Given the description of an element on the screen output the (x, y) to click on. 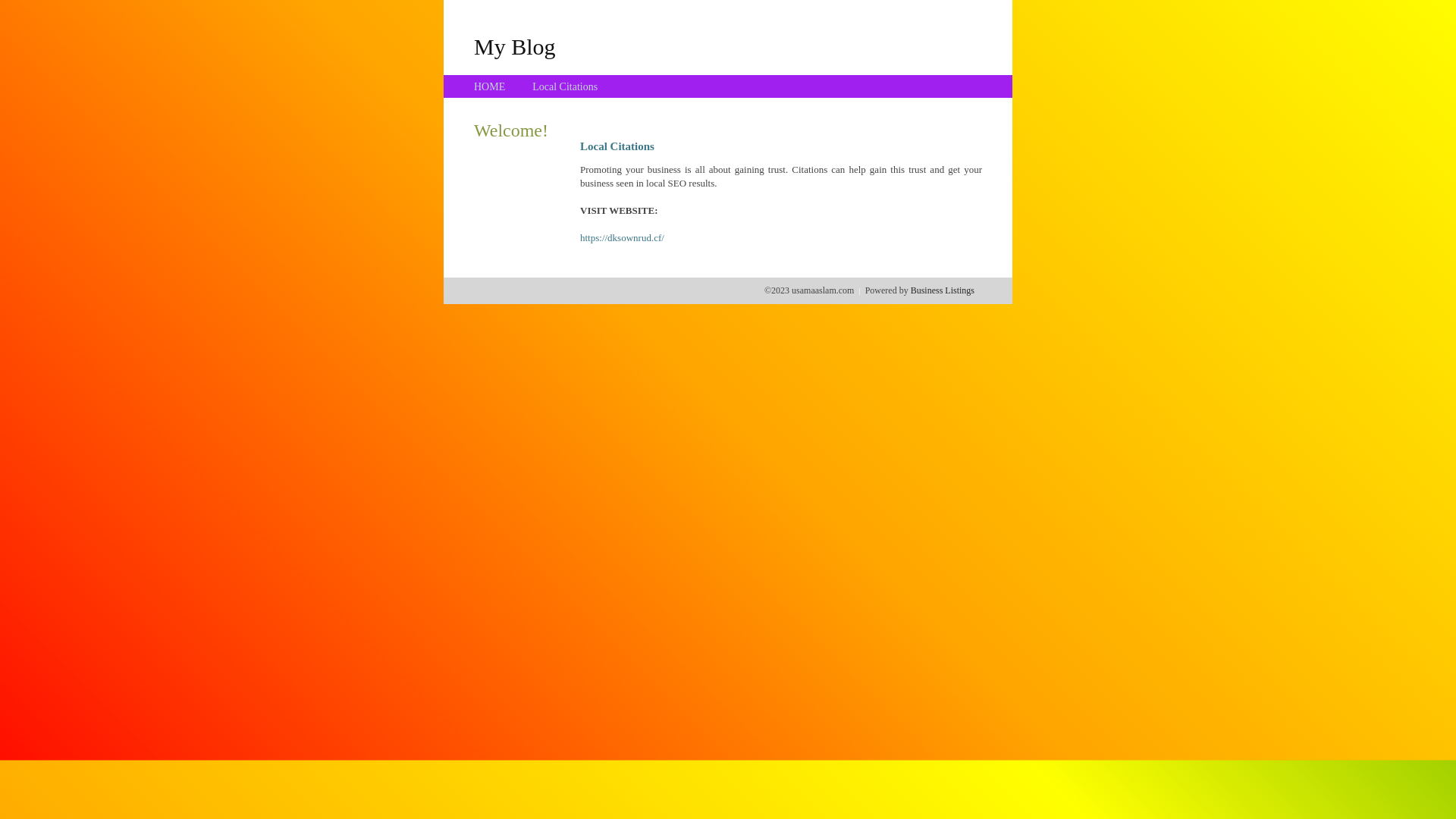
Local Citations Element type: text (564, 86)
Business Listings Element type: text (942, 290)
My Blog Element type: text (514, 46)
HOME Element type: text (489, 86)
https://dksownrud.cf/ Element type: text (622, 237)
